Given the description of an element on the screen output the (x, y) to click on. 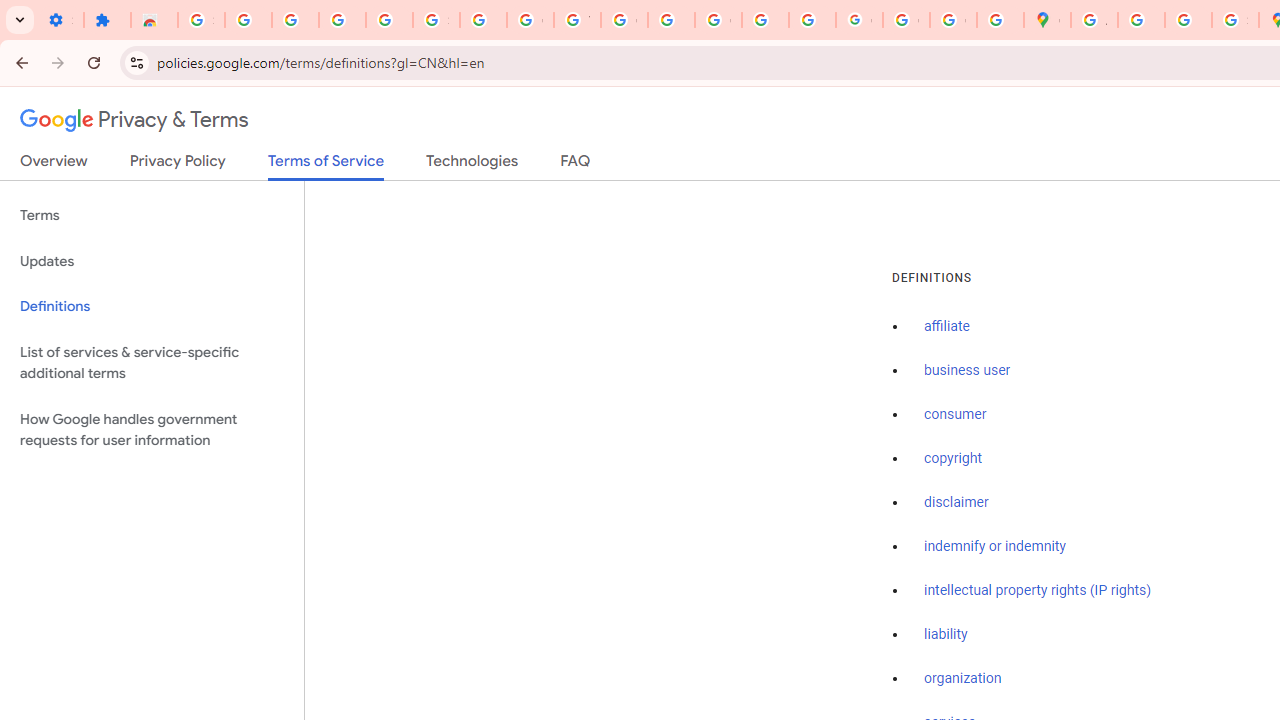
Google Maps (1047, 20)
Sign in - Google Accounts (436, 20)
YouTube (577, 20)
Safety in Our Products - Google Safety Center (1235, 20)
Terms of Service (326, 166)
